Given the description of an element on the screen output the (x, y) to click on. 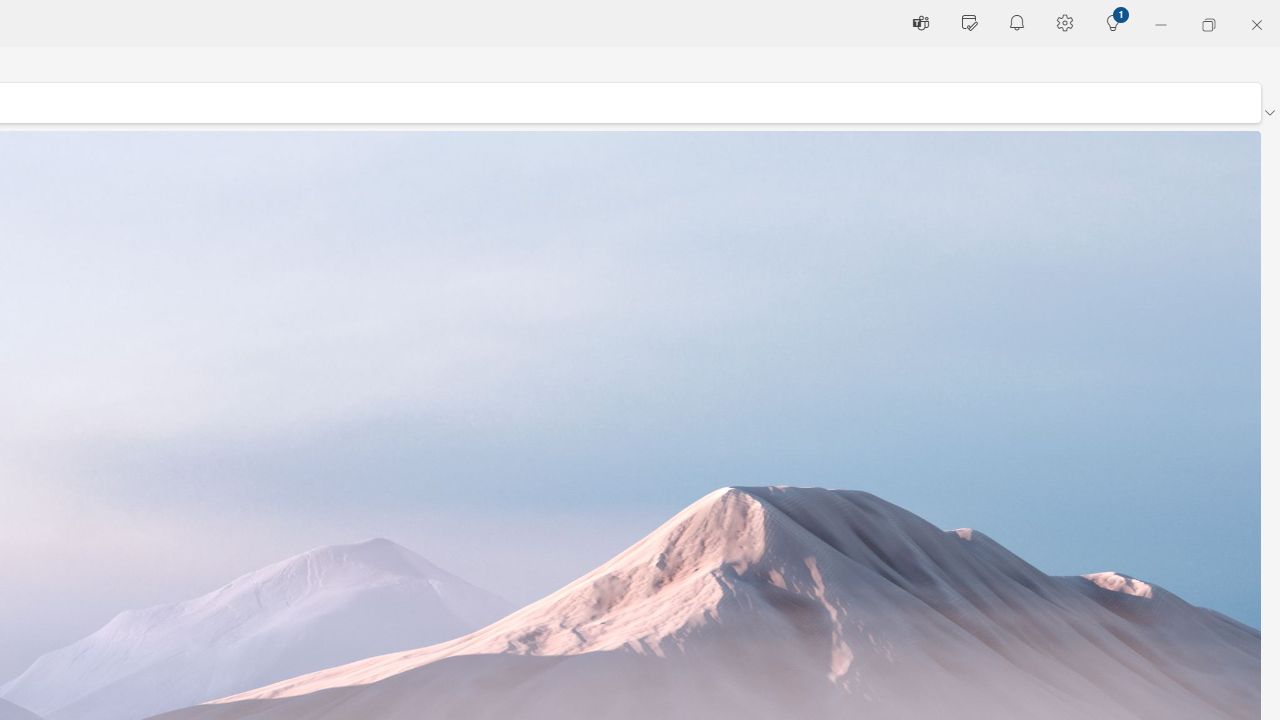
Ribbon display options (1269, 112)
